Given the description of an element on the screen output the (x, y) to click on. 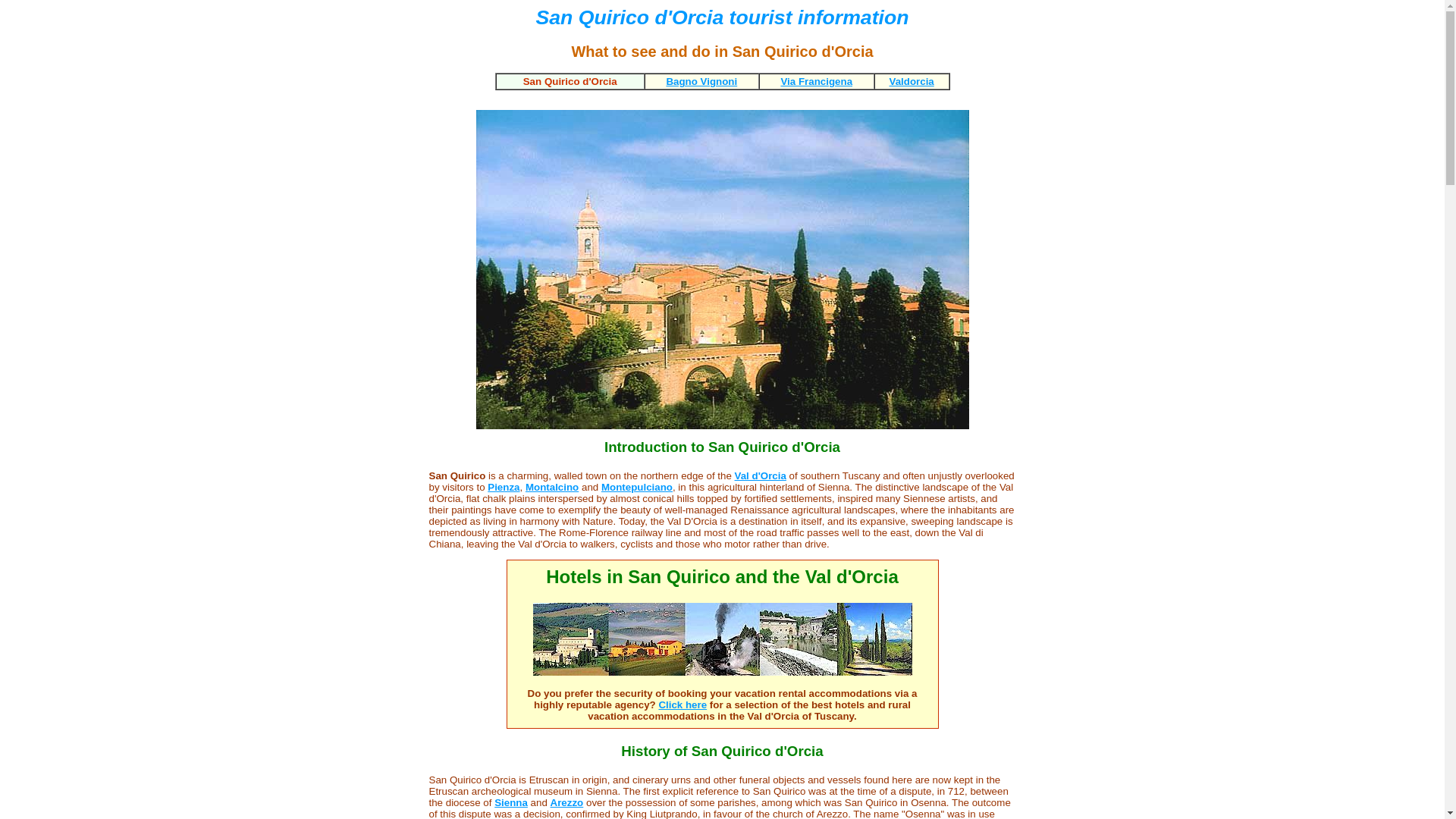
Arezzo (566, 801)
Val d'Orcia (760, 475)
Pienza (503, 487)
Valdorcia (910, 81)
Montepulciano (636, 487)
San Quirico (459, 475)
Montalcino (551, 487)
Via Francigena (815, 81)
Sienna (511, 801)
